Given the description of an element on the screen output the (x, y) to click on. 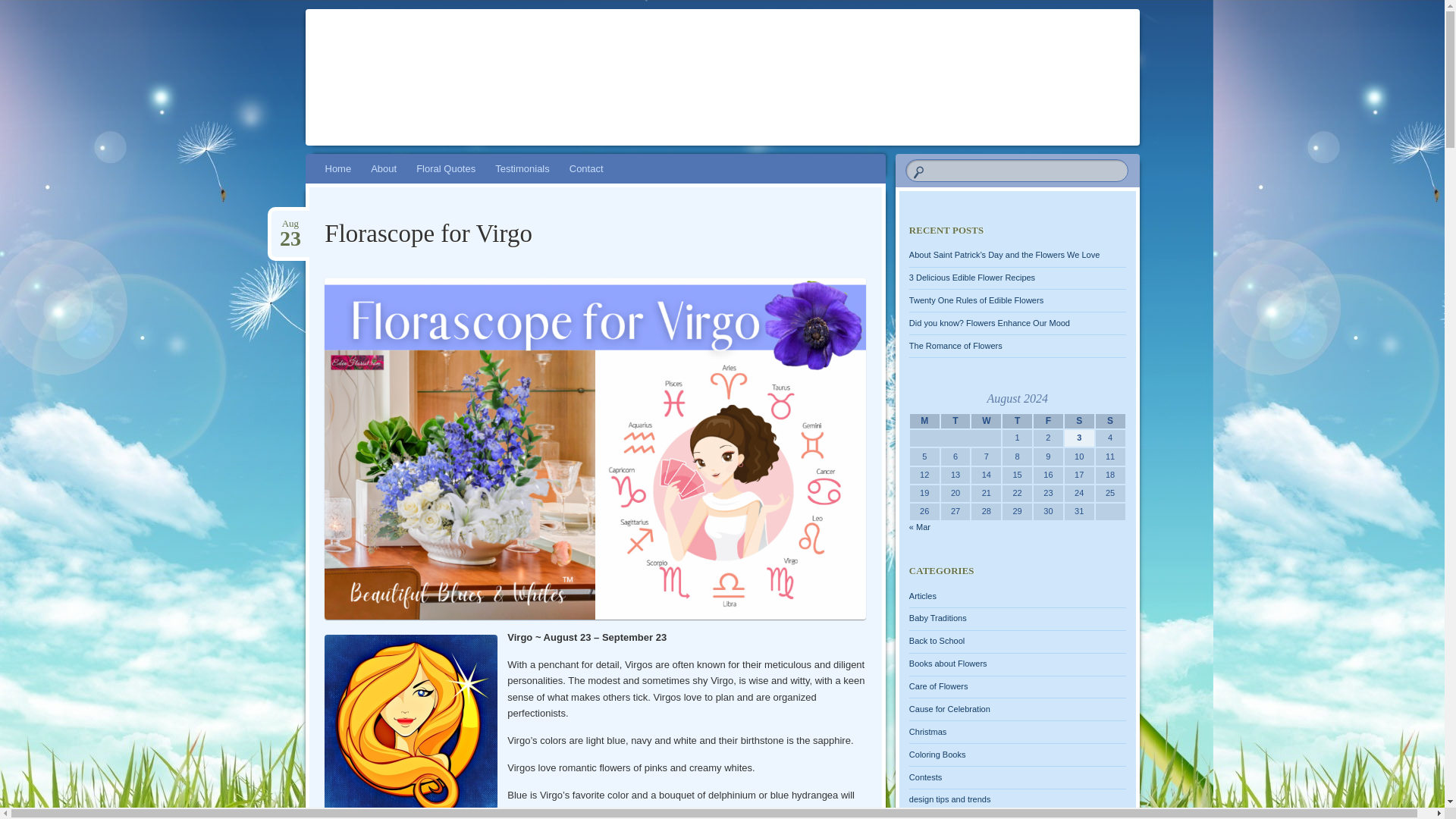
Home (289, 223)
Tuesday (338, 168)
Monday (955, 421)
Did you know? Flowers Enhance Our Mood (924, 421)
The Romance of Flowers (989, 322)
Floral Quotes (955, 345)
Thursday (445, 168)
Contact (1016, 421)
Wednesday (585, 168)
August 23, 2022 (986, 421)
Friday (289, 223)
Search (1048, 421)
Twenty One Rules of Edible Flowers (21, 7)
About (975, 299)
